Given the description of an element on the screen output the (x, y) to click on. 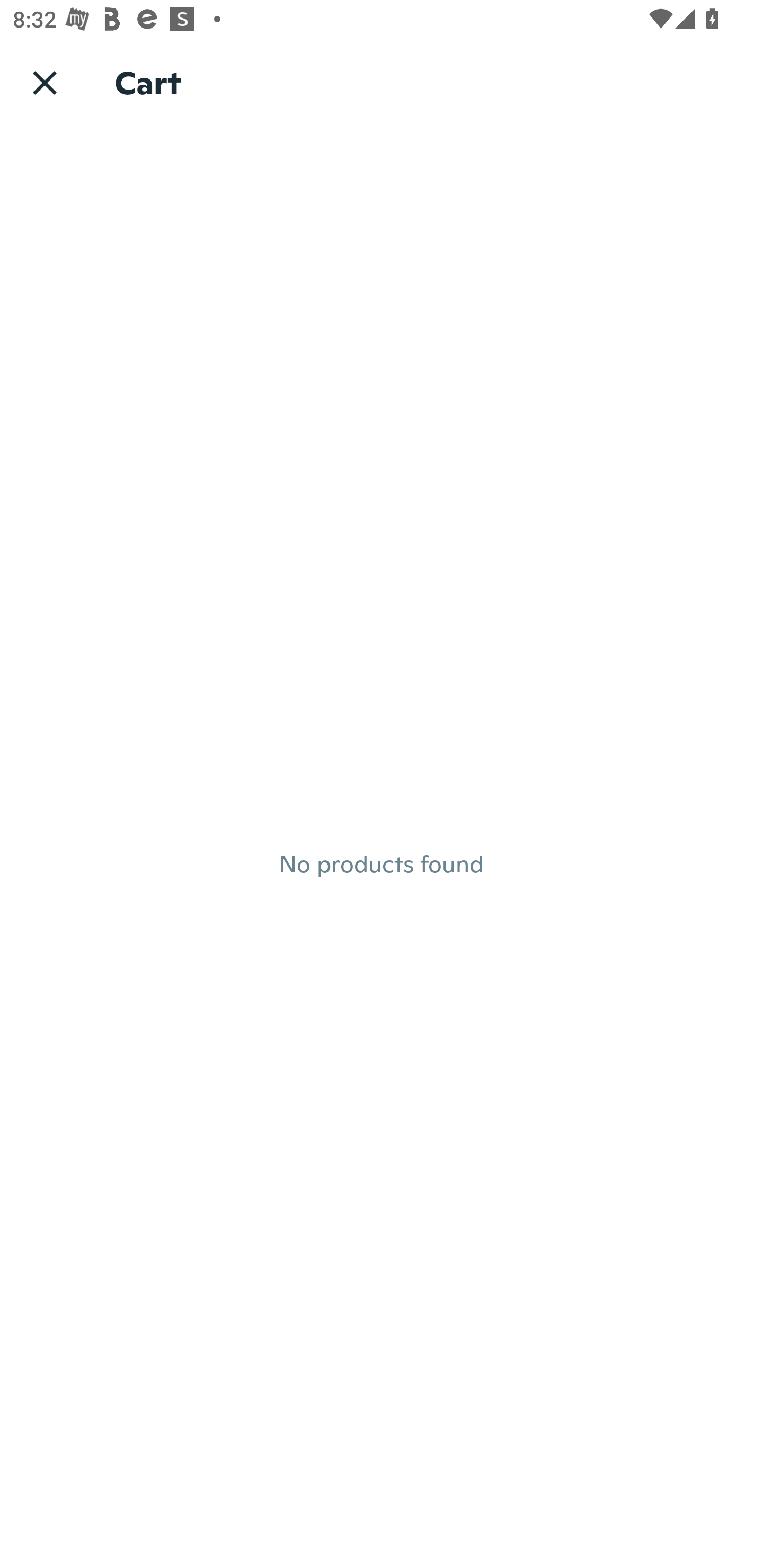
Navigate up (44, 82)
